Given the description of an element on the screen output the (x, y) to click on. 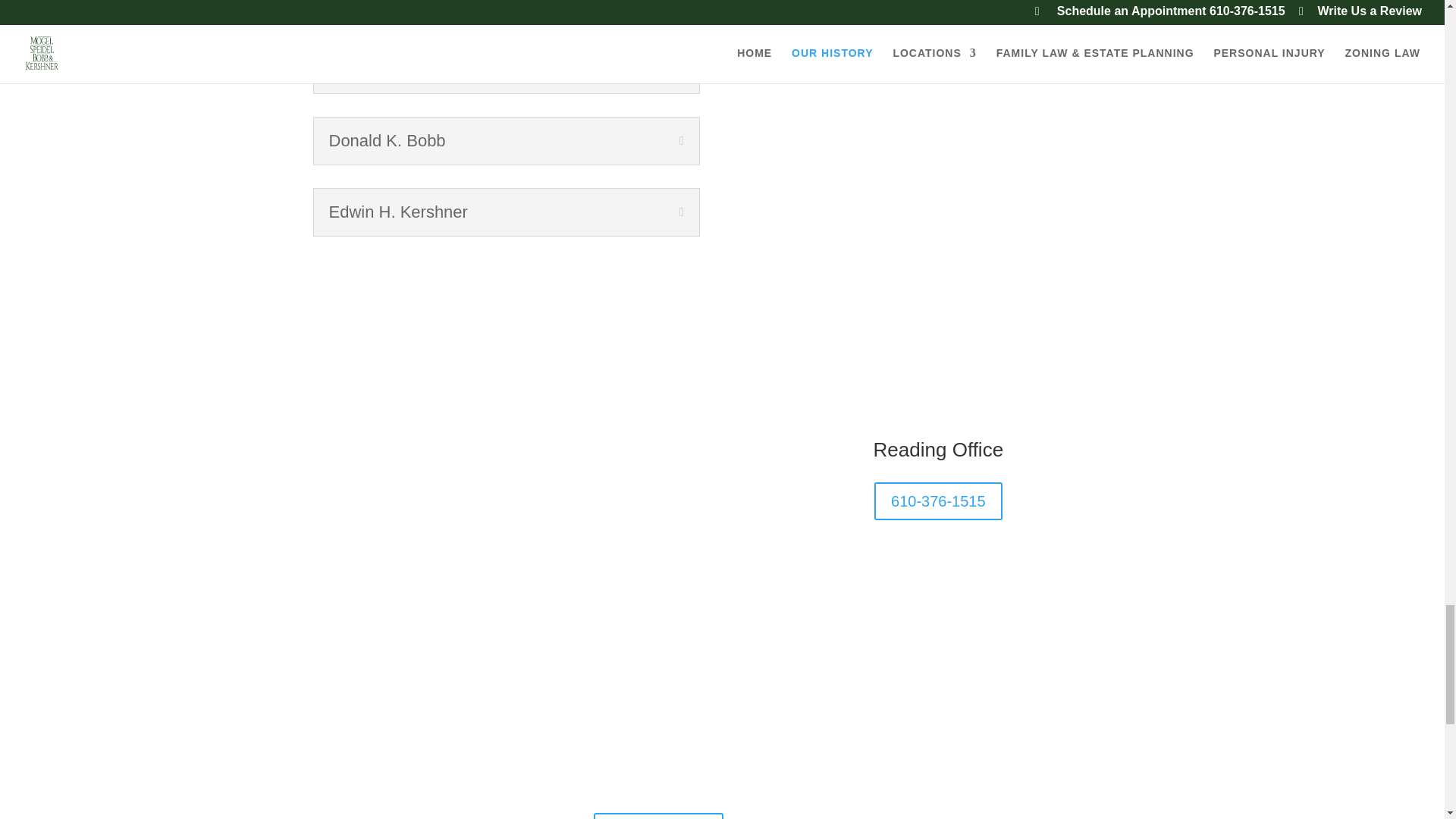
Get Directions (658, 816)
610-376-1515 (939, 501)
520 Walnut St Reading, PA 19601 (677, 755)
610-376-1515 (663, 773)
